Given the description of an element on the screen output the (x, y) to click on. 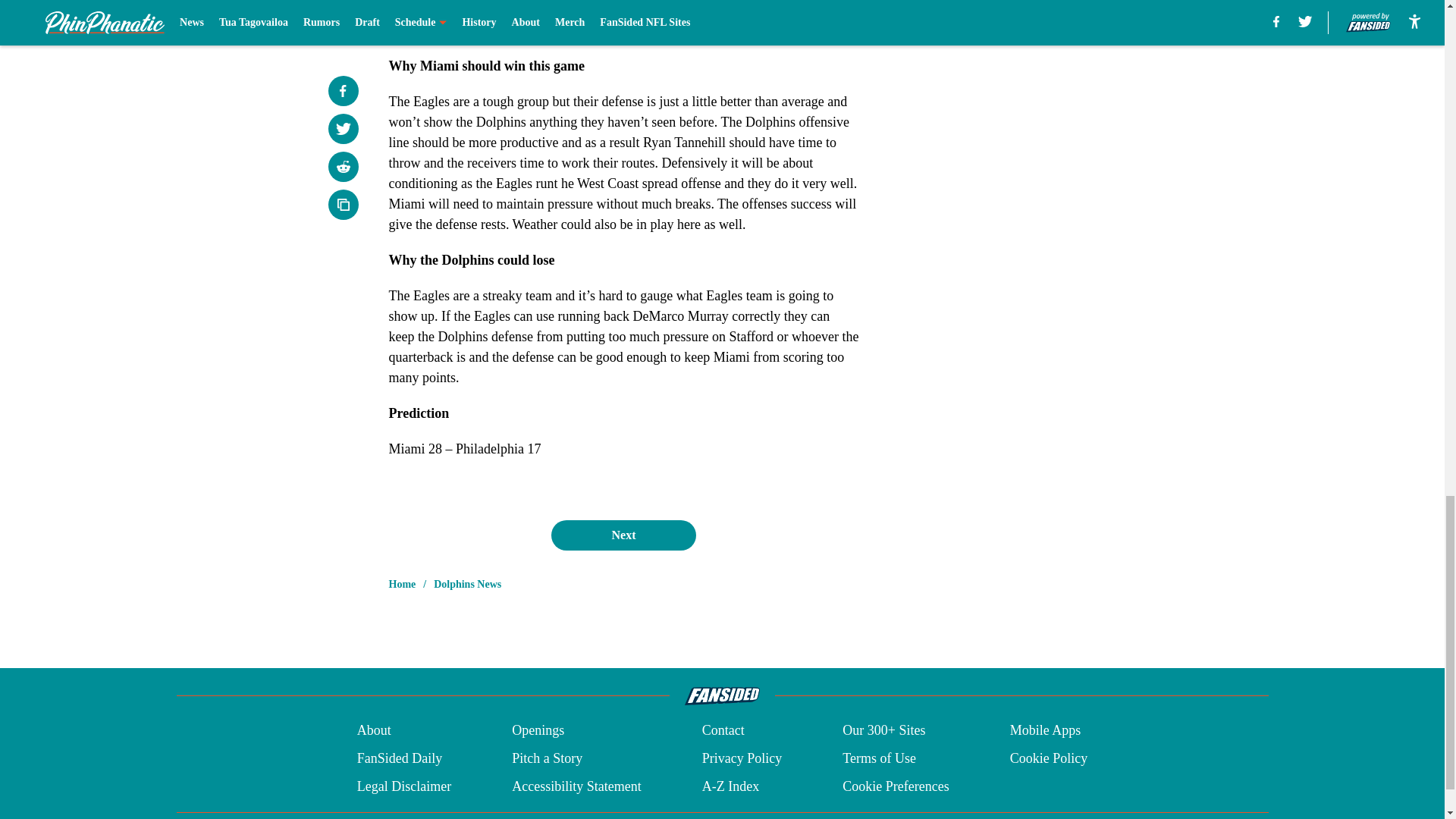
Legal Disclaimer (403, 786)
About (373, 730)
Home (401, 584)
Dolphins News (466, 584)
Contact (722, 730)
Cookie Policy (1048, 758)
Terms of Use (879, 758)
Pitch a Story (547, 758)
Next (622, 535)
Privacy Policy (742, 758)
